Given the description of an element on the screen output the (x, y) to click on. 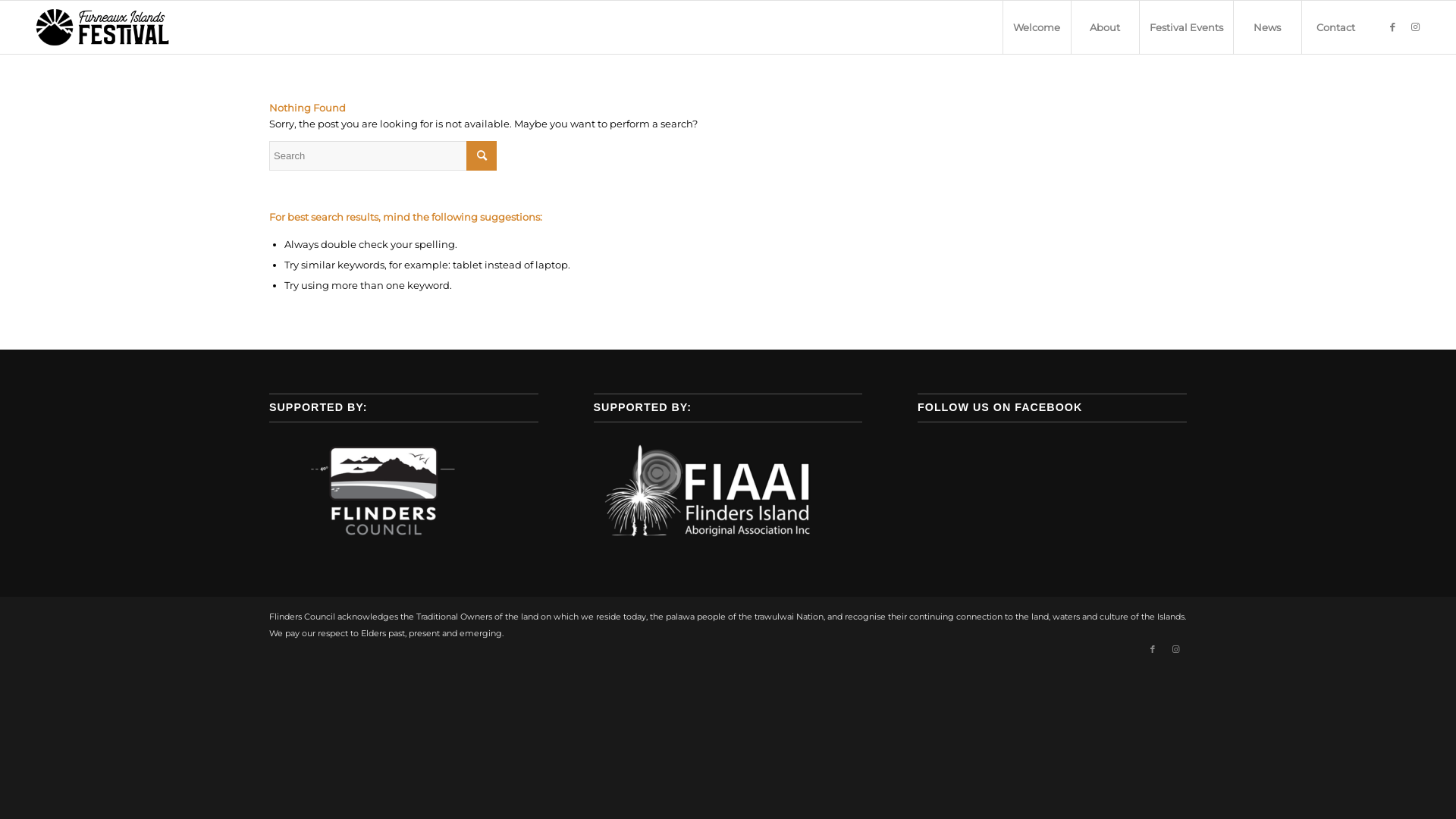
Instagram Element type: hover (1175, 648)
Festival Events Element type: text (1186, 26)
News Element type: text (1267, 26)
Contact Element type: text (1335, 26)
About Element type: text (1104, 26)
Instagram Element type: hover (1415, 26)
Welcome Element type: text (1036, 26)
Facebook Element type: hover (1392, 26)
Facebook Element type: hover (1152, 648)
festival-logo2023 Element type: hover (105, 26)
